Given the description of an element on the screen output the (x, y) to click on. 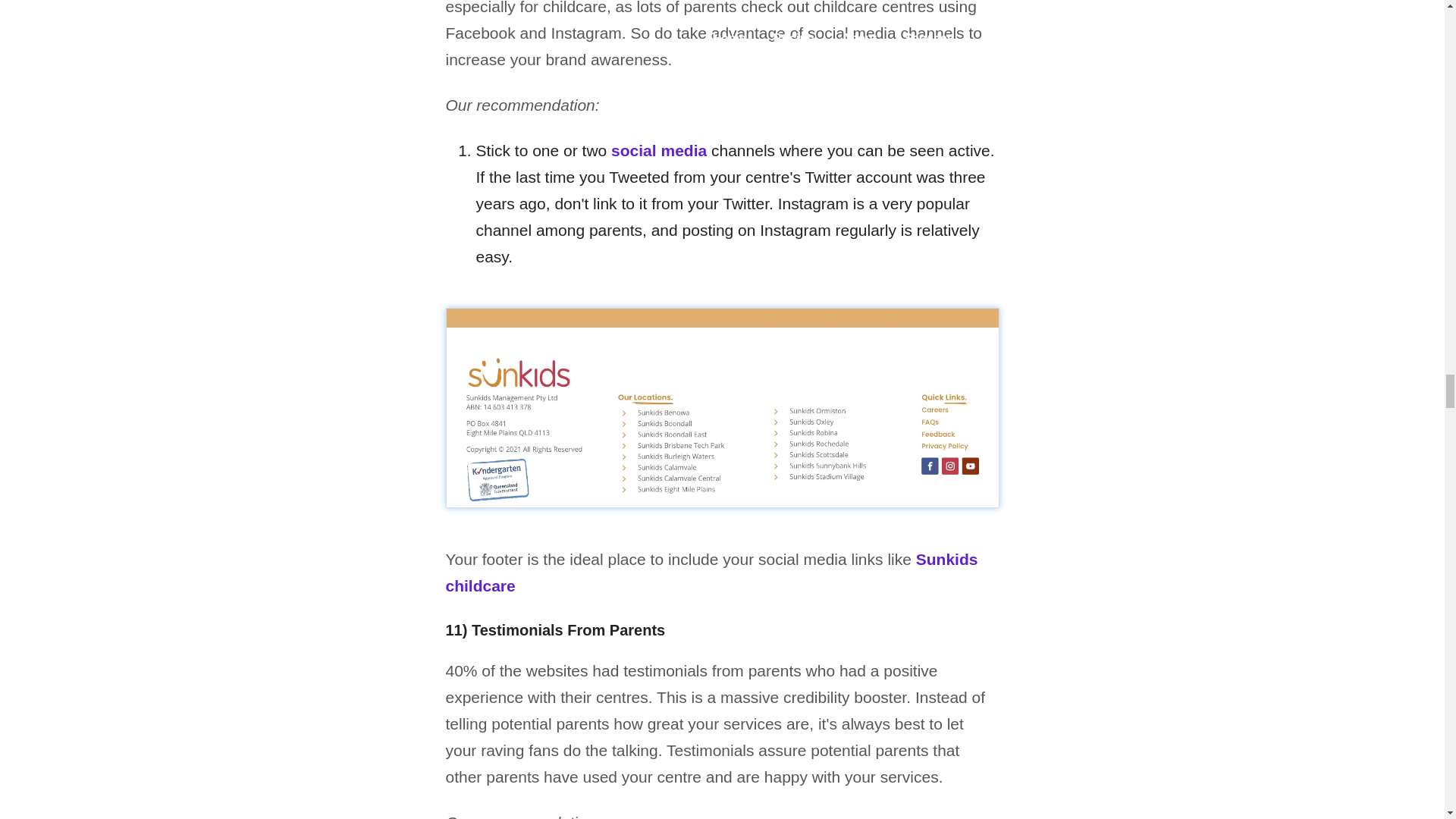
Sunkids childcare (711, 572)
social media (658, 149)
